Given the description of an element on the screen output the (x, y) to click on. 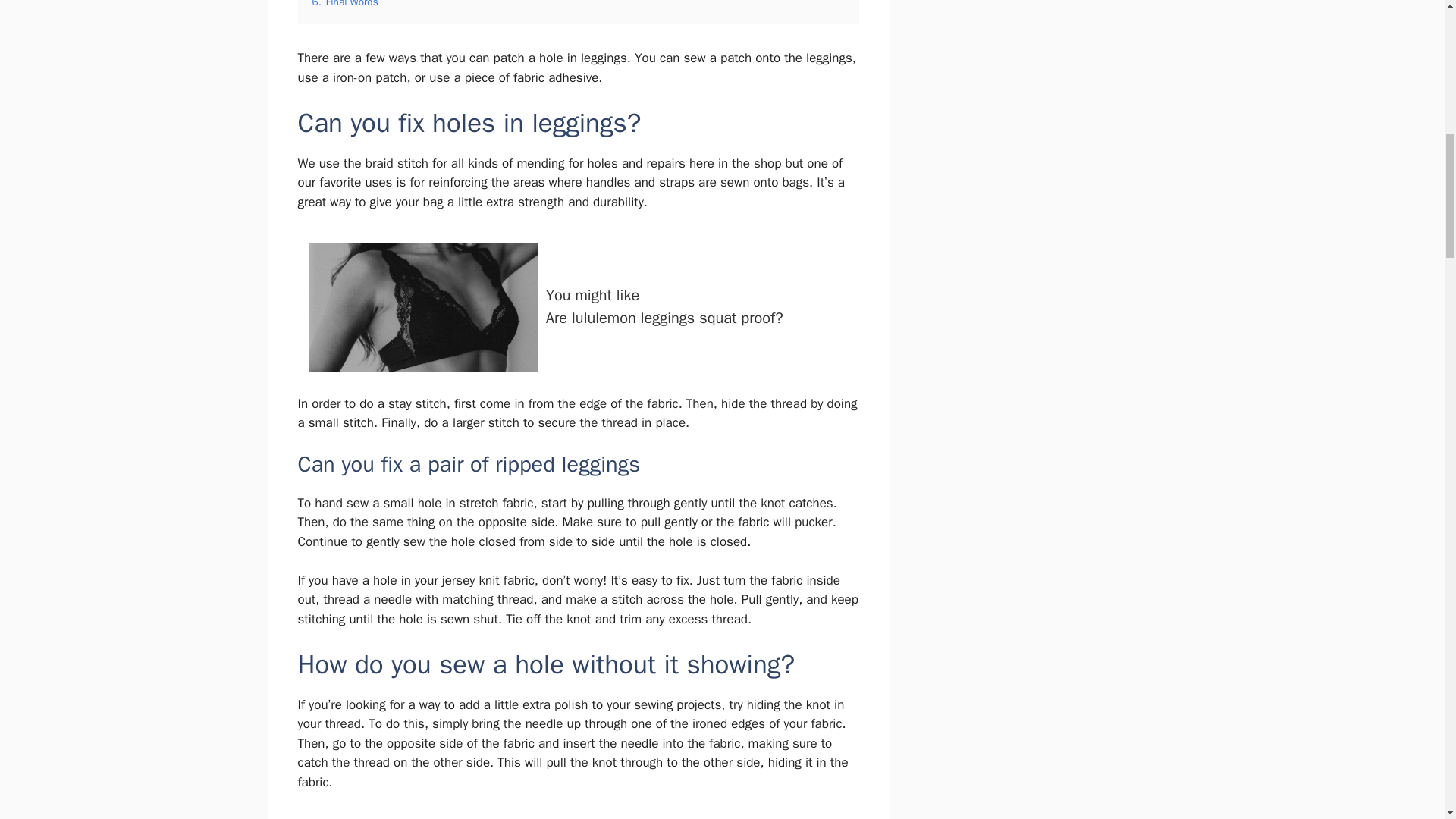
How to patch hole in leggings? (578, 815)
6. Final Words (578, 306)
